Given the description of an element on the screen output the (x, y) to click on. 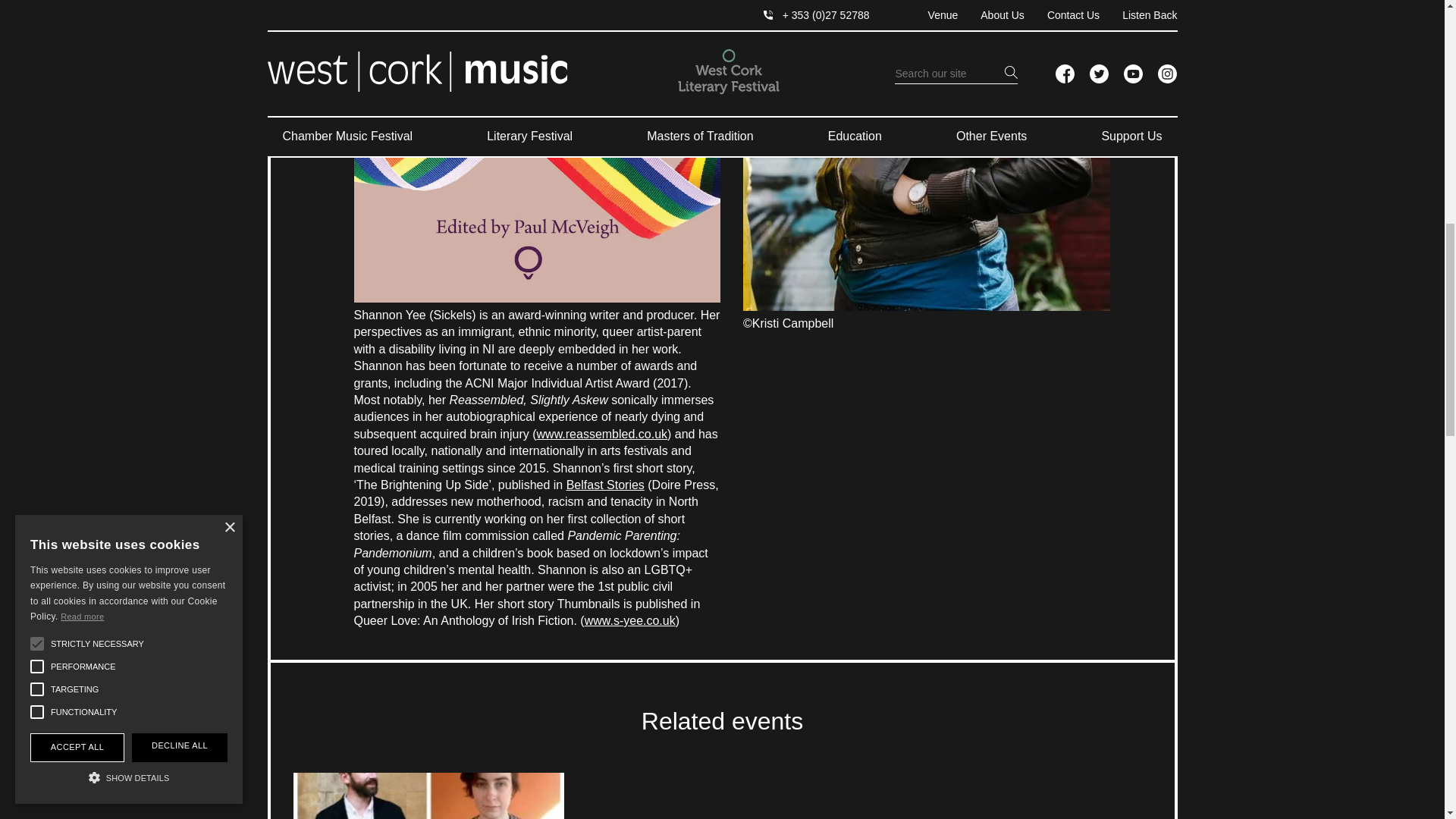
Queer Love cover web (536, 151)
Shannon Yee (925, 155)
Read More (427, 796)
